Given the description of an element on the screen output the (x, y) to click on. 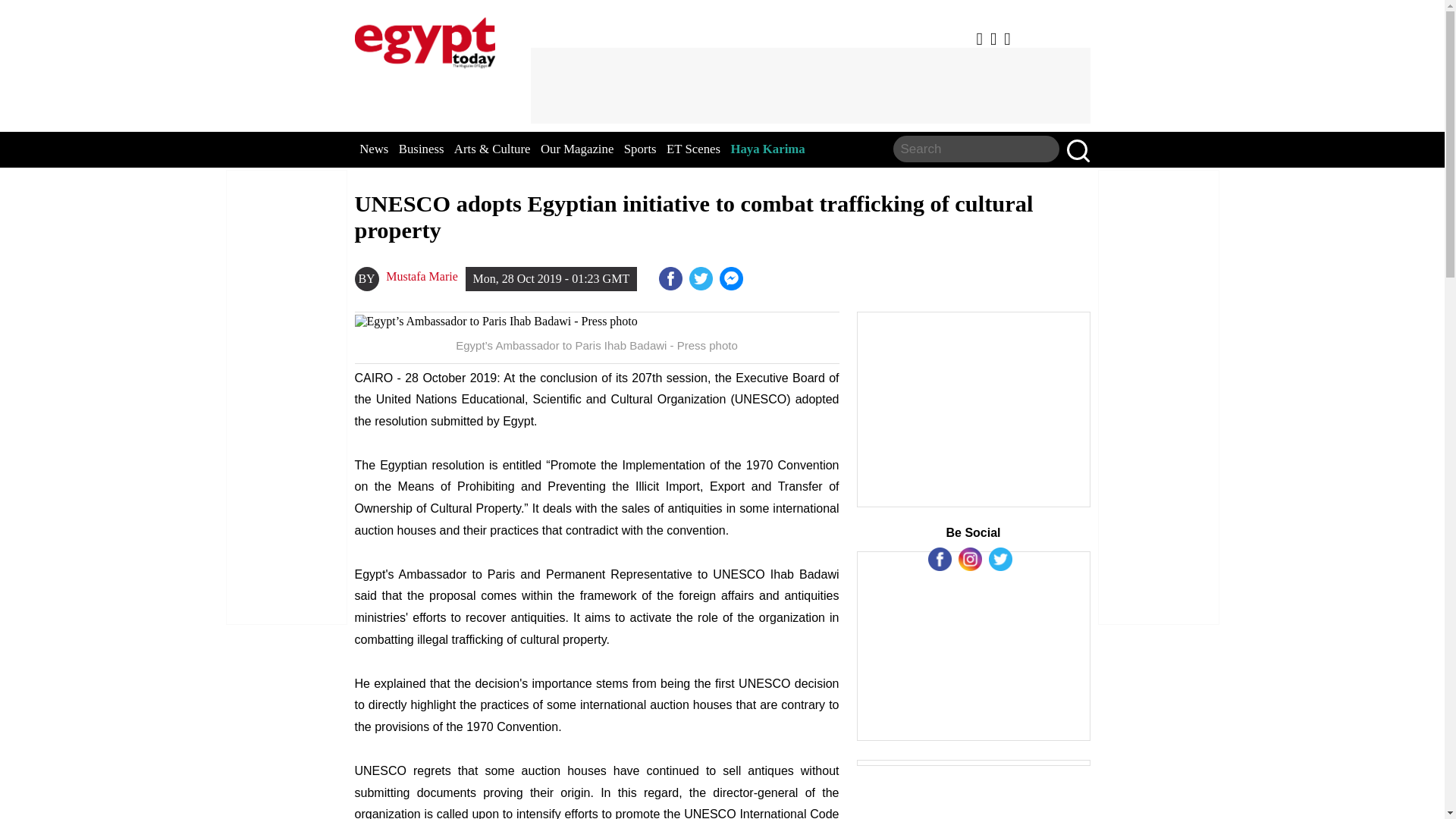
Haya Karima (767, 149)
Sisi heads to Guinea first destination in overseas tour (732, 278)
Sports (640, 149)
EgyptToday (425, 39)
Mustafa Marie (421, 276)
Our Magazine (576, 149)
ET Scenes (693, 149)
Business (421, 149)
News (373, 149)
